Given the description of an element on the screen output the (x, y) to click on. 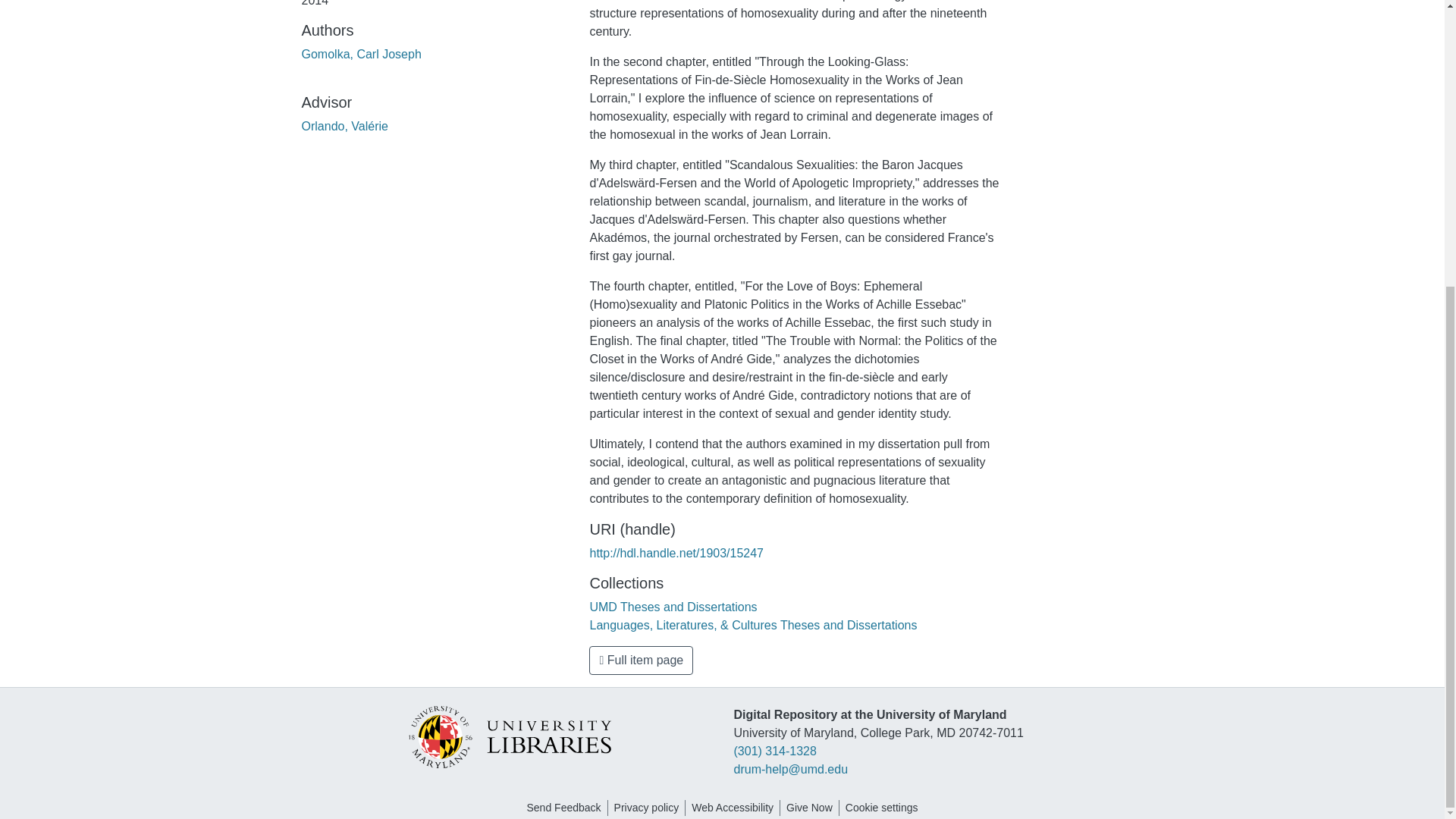
Cookie settings (882, 807)
UMD Theses and Dissertations (673, 606)
Libraries Home Page (508, 735)
Gomolka, Carl Joseph (361, 53)
Web Accessibility (731, 807)
Privacy policy (646, 807)
Full item page (641, 660)
Give Now (809, 807)
Send Feedback (563, 807)
